Given the description of an element on the screen output the (x, y) to click on. 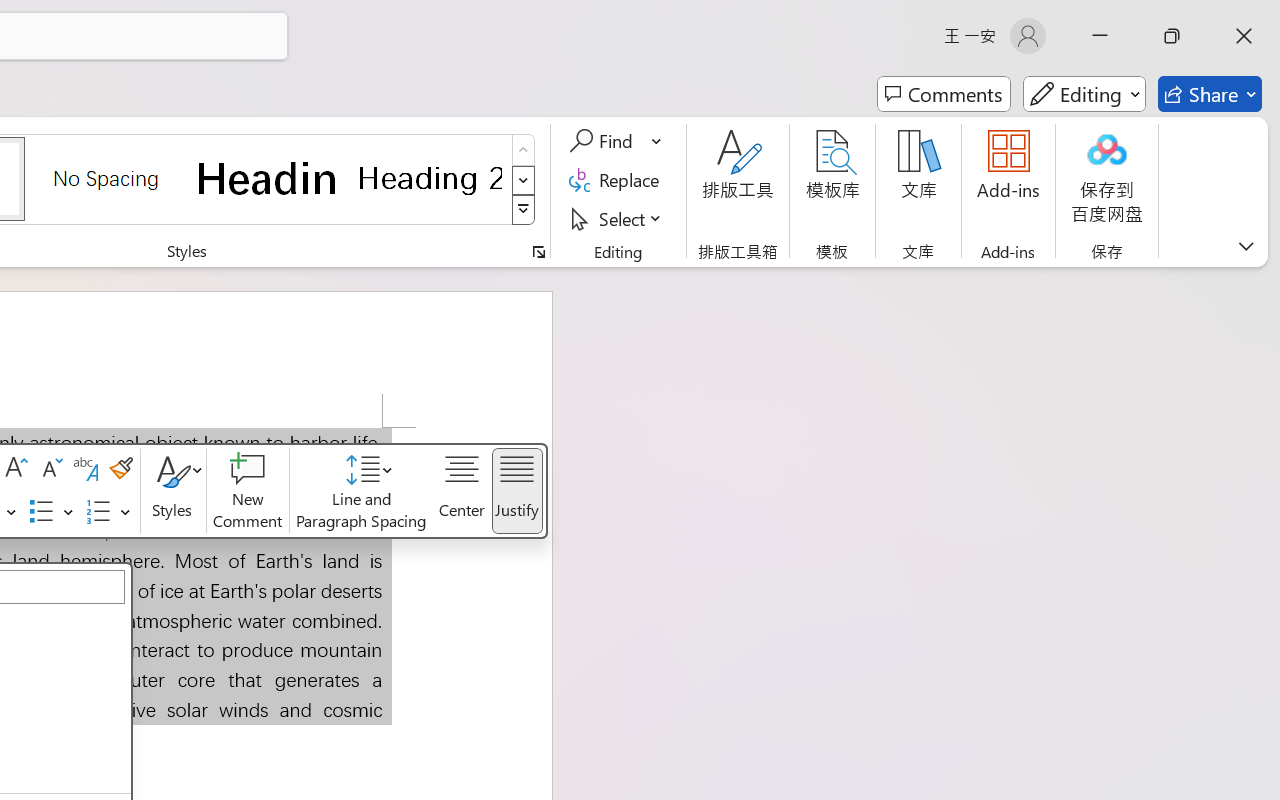
Heading 2 (429, 178)
Replace... (617, 179)
Phonetic Guide... (86, 469)
Format Painter (120, 469)
